Given the description of an element on the screen output the (x, y) to click on. 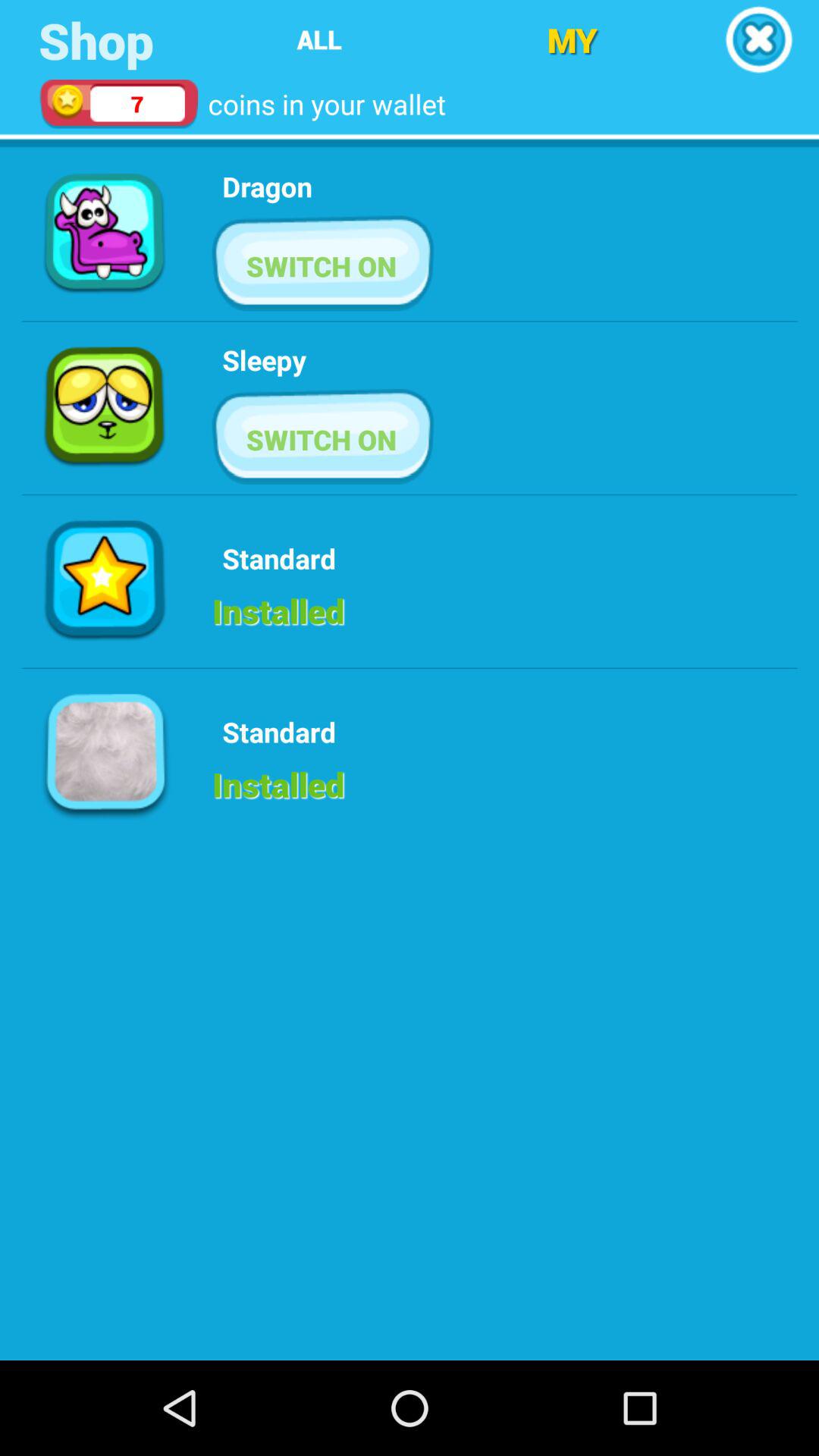
choose icon to the right of the 7 (318, 39)
